Given the description of an element on the screen output the (x, y) to click on. 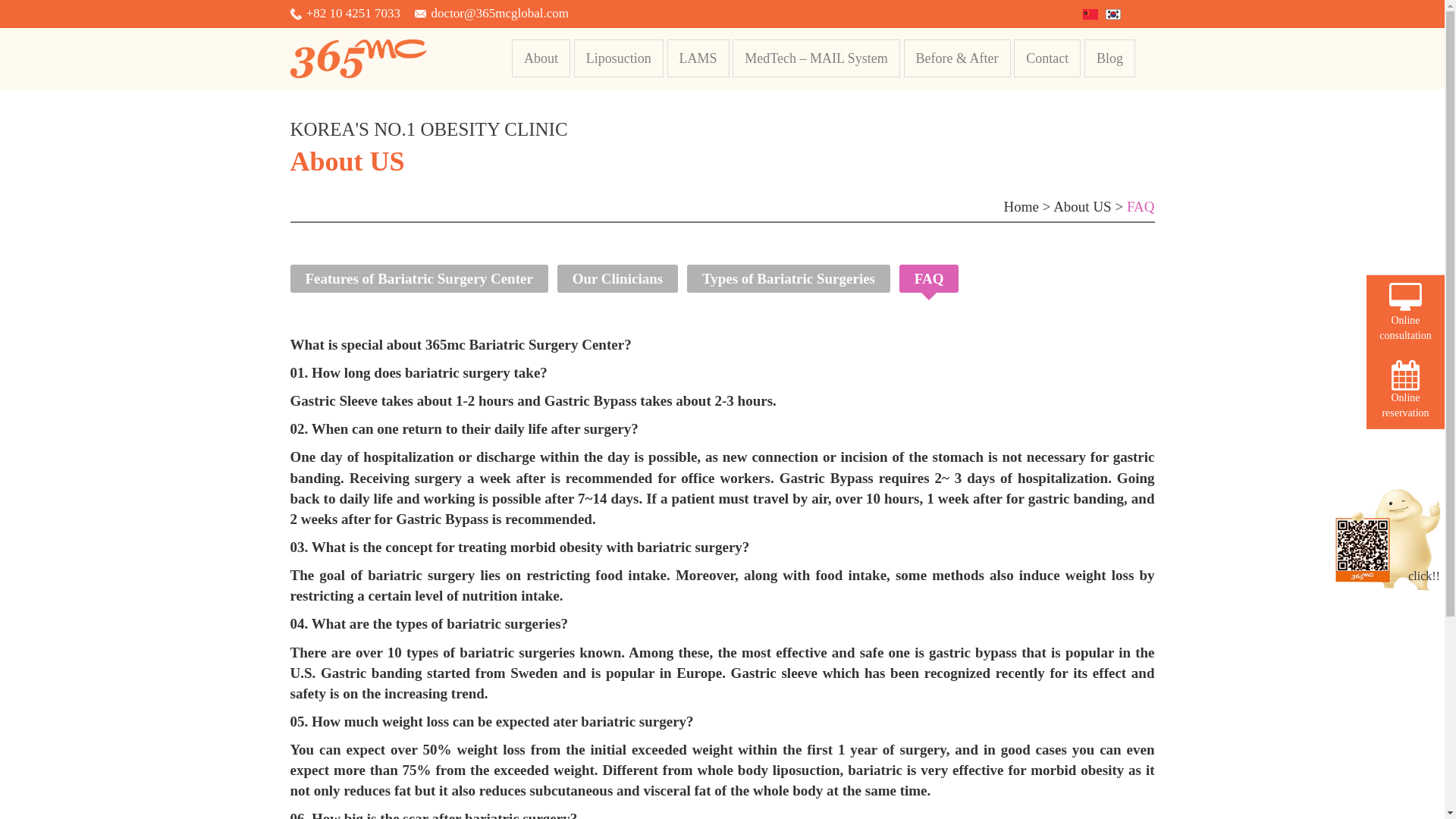
Liposuction Element type: text (618, 57)
LAMS Element type: text (698, 57)
About Element type: text (541, 57)
+82 10 4251 7033 Element type: text (353, 13)
Our Clinicians Element type: text (617, 278)
doctor@365mcglobal.com Element type: text (499, 13)
Online consultation Element type: text (1405, 309)
Blog Element type: text (1109, 57)
Online reservation Element type: text (1405, 385)
Types of Bariatric Surgeries Element type: text (788, 278)
Features of Bariatric Surgery Center Element type: text (418, 278)
Contact Element type: text (1047, 57)
FAQ Element type: text (929, 278)
Before & After Element type: text (957, 57)
